Given the description of an element on the screen output the (x, y) to click on. 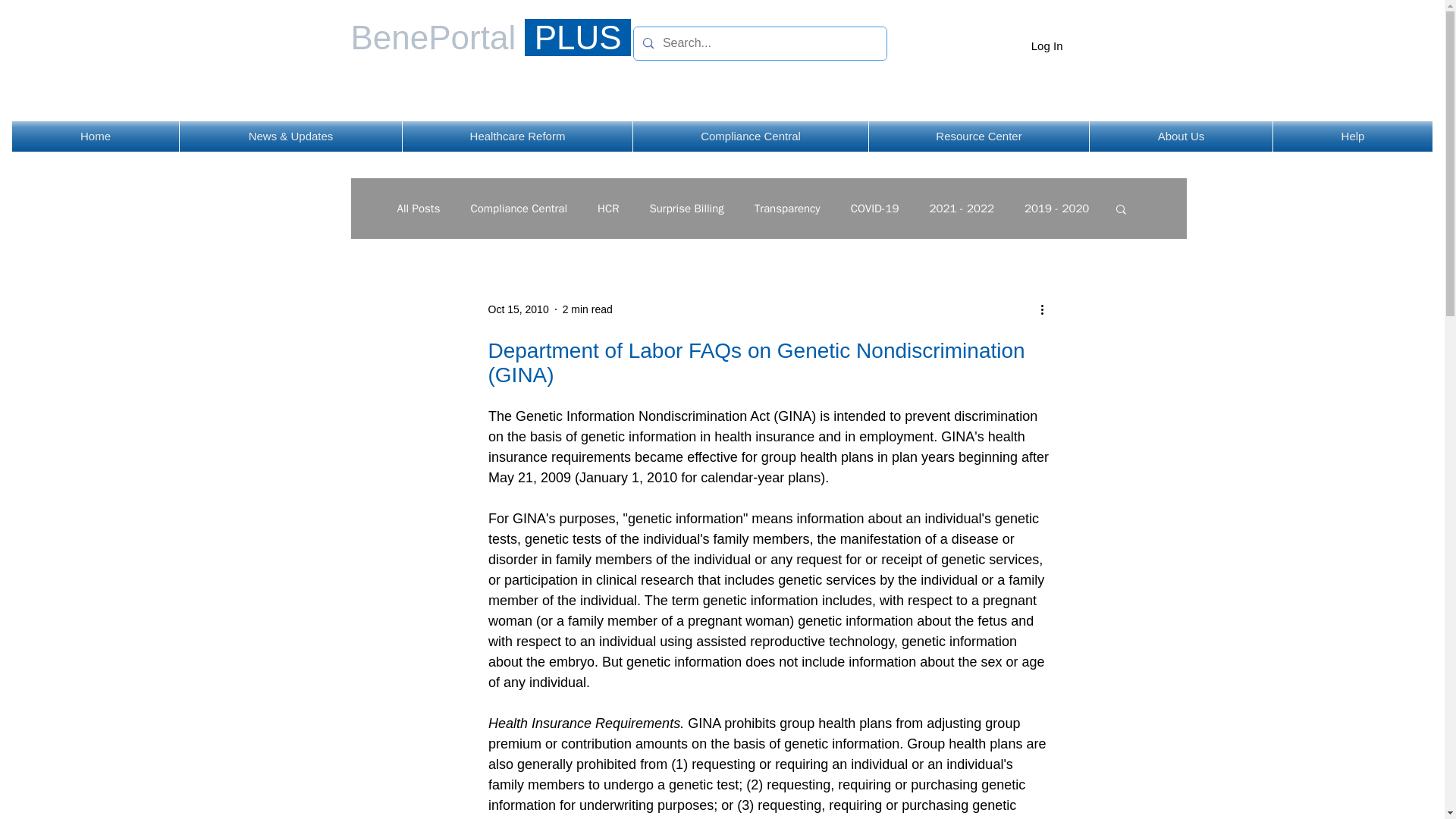
2 min read (587, 309)
Log In (1047, 45)
Healthcare Reform (517, 136)
Compliance Central (518, 208)
Compliance Central (750, 136)
Resource Center (979, 136)
Home (95, 136)
Help (1352, 136)
About Us (1180, 136)
All Posts (419, 208)
Oct 15, 2010 (517, 309)
